Given the description of an element on the screen output the (x, y) to click on. 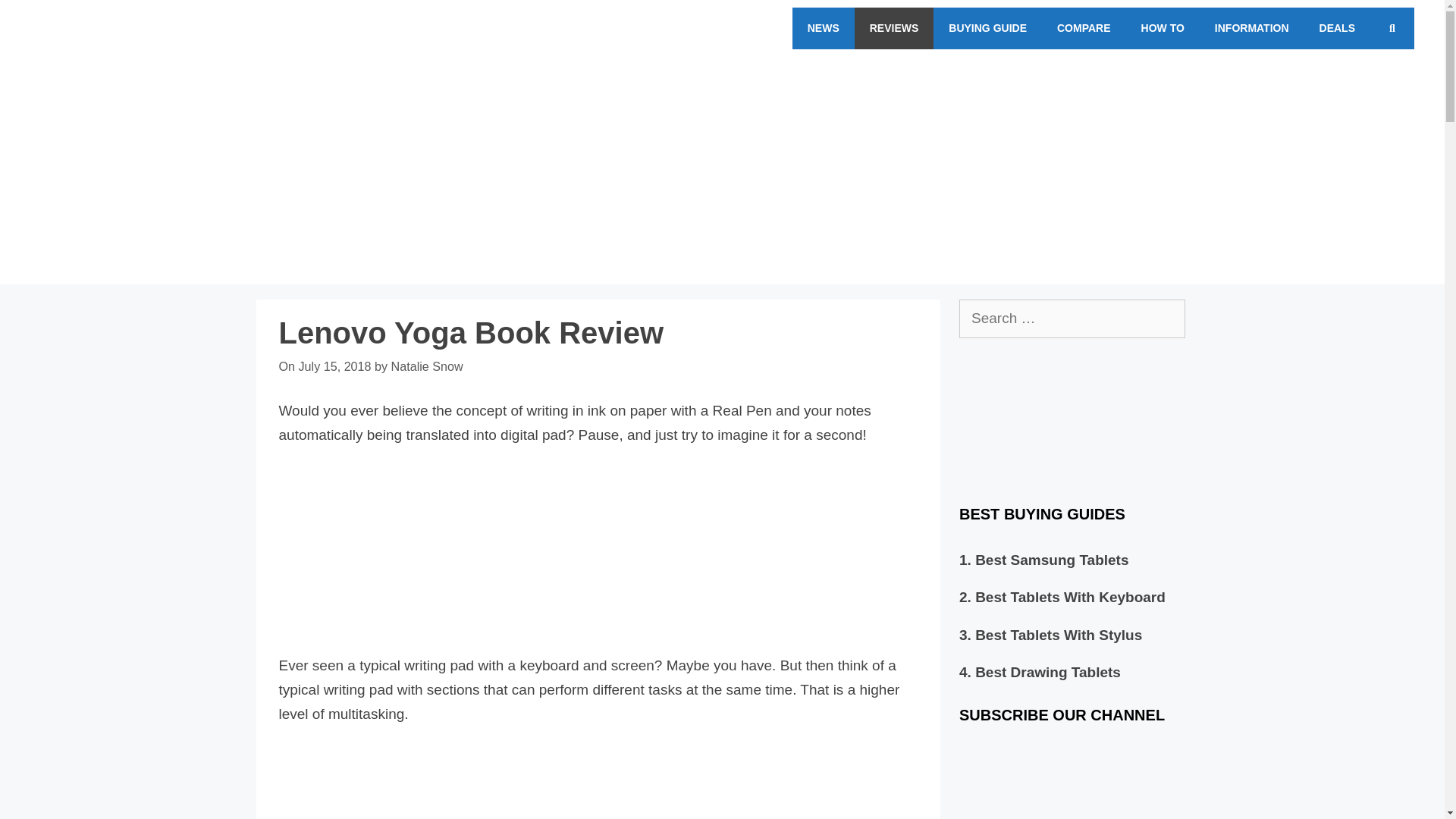
View all posts by Natalie Snow (427, 366)
Best Samsung Tablets (1051, 560)
Best Tablets With Stylus (1058, 634)
Best Tablets With Keyboard (1070, 596)
Natalie Snow (427, 366)
NEWS (823, 28)
REVIEWS (894, 28)
COMPARE (1083, 28)
Search (44, 18)
